Given the description of an element on the screen output the (x, y) to click on. 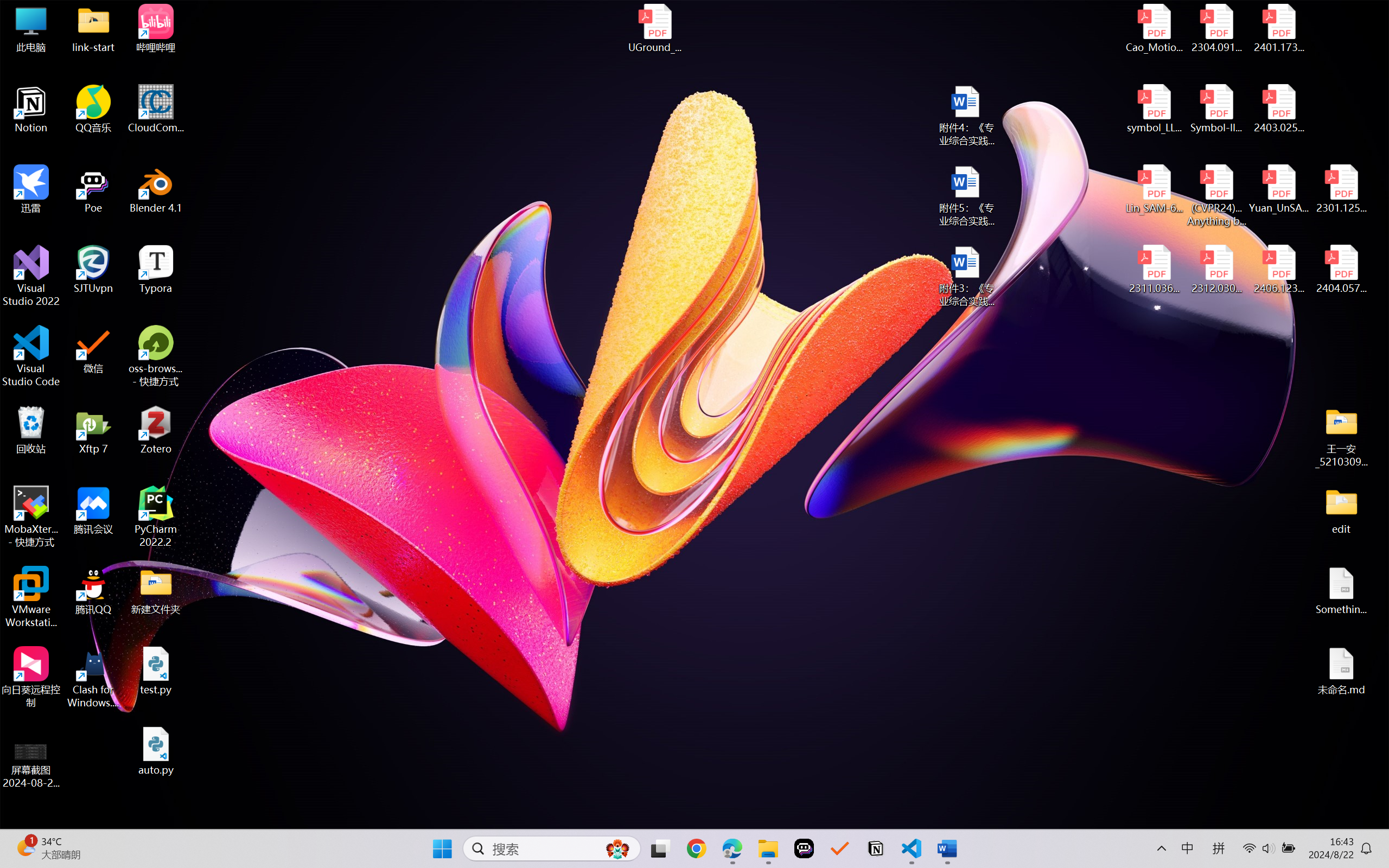
2401.17399v1.pdf (1278, 28)
Typora (156, 269)
2312.03032v2.pdf (1216, 269)
2406.12373v2.pdf (1278, 269)
(CVPR24)Matching Anything by Segmenting Anything.pdf (1216, 195)
Xftp 7 (93, 430)
